Given the description of an element on the screen output the (x, y) to click on. 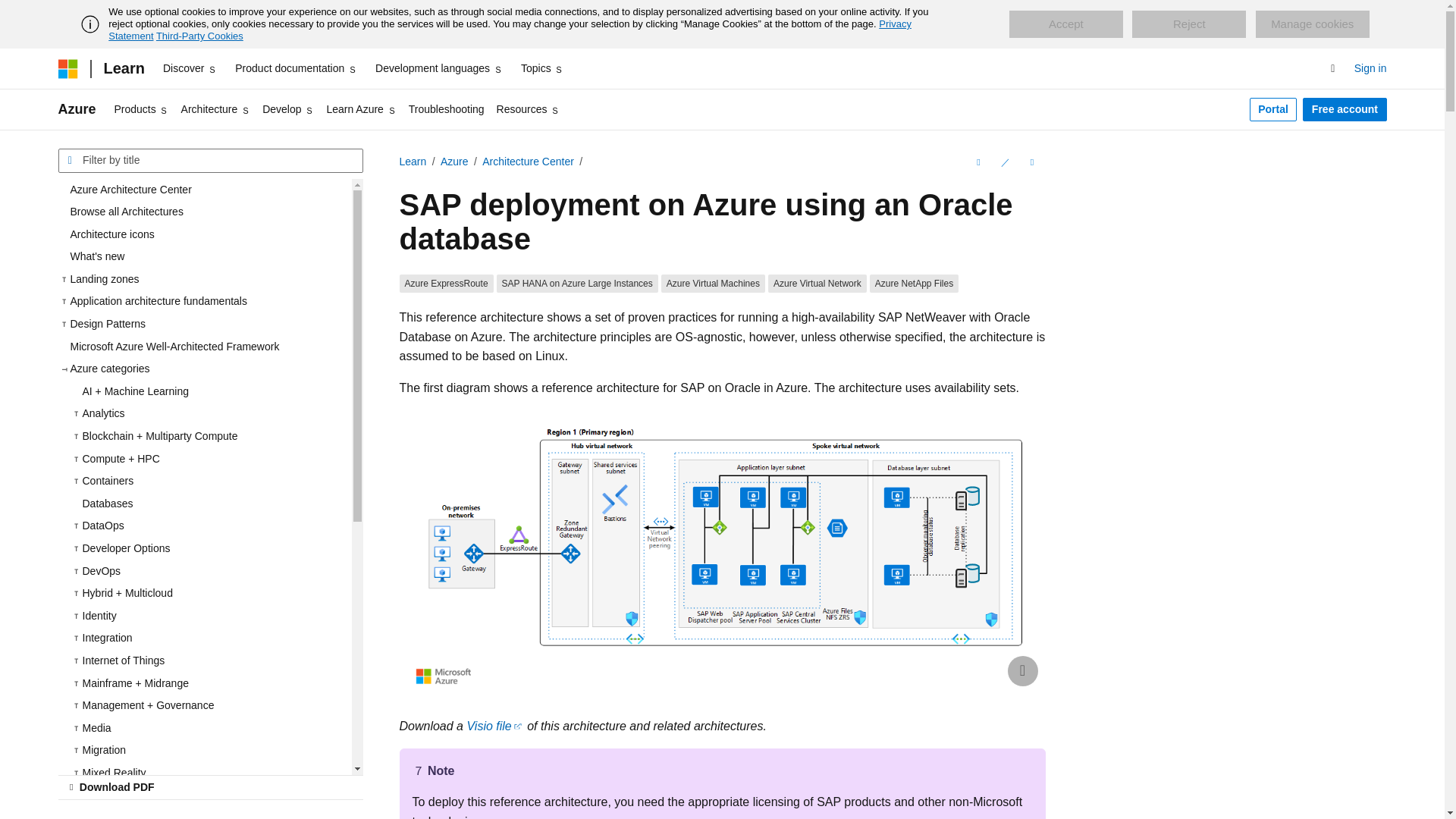
Manage cookies (1312, 23)
Product documentation (295, 68)
Edit This Document (1004, 161)
Azure (77, 109)
Sign in (1370, 68)
Topics (542, 68)
More actions (1031, 161)
Discover (189, 68)
Skip to main content (11, 11)
Accept (1065, 23)
Development languages (438, 68)
Privacy Statement (509, 29)
Third-Party Cookies (199, 35)
Products (140, 109)
Reject (1189, 23)
